Given the description of an element on the screen output the (x, y) to click on. 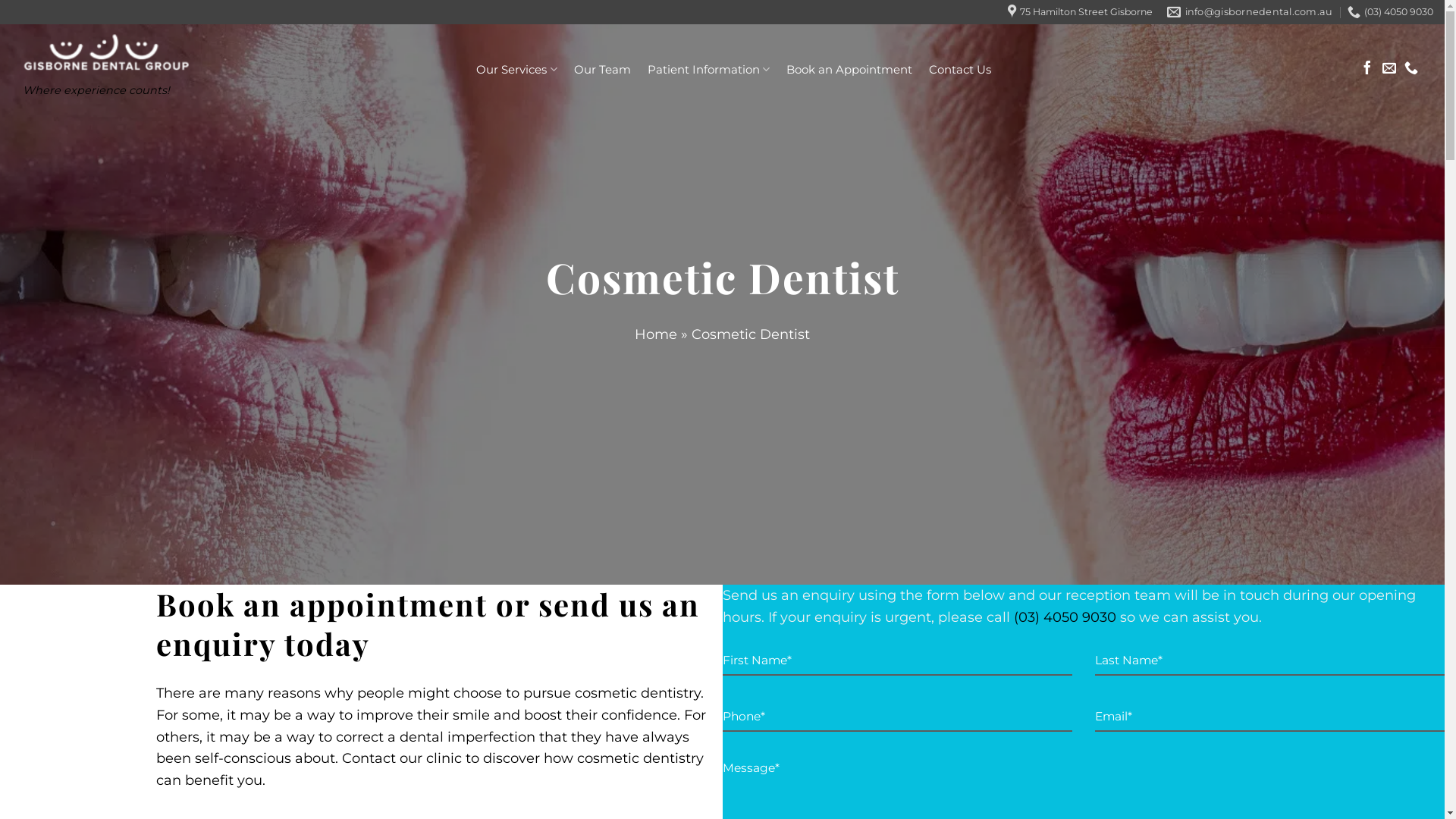
(03) 4050 9030 Element type: text (1064, 616)
info@gisbornedental.com.au Element type: text (1249, 12)
Call us Element type: hover (1411, 68)
Book an Appointment Element type: text (849, 69)
(03) 4050 9030 Element type: text (1390, 11)
Home Element type: text (655, 334)
Send us an email Element type: hover (1389, 68)
75 Hamilton Street Gisborne Element type: text (1079, 12)
Patient Information Element type: text (708, 69)
Follow on Facebook Element type: hover (1367, 68)
Gisborne Dental Group - Where experience counts! Element type: hover (162, 54)
Our Team Element type: text (601, 69)
Our Services Element type: text (516, 69)
Contact Us Element type: text (959, 69)
